Given the description of an element on the screen output the (x, y) to click on. 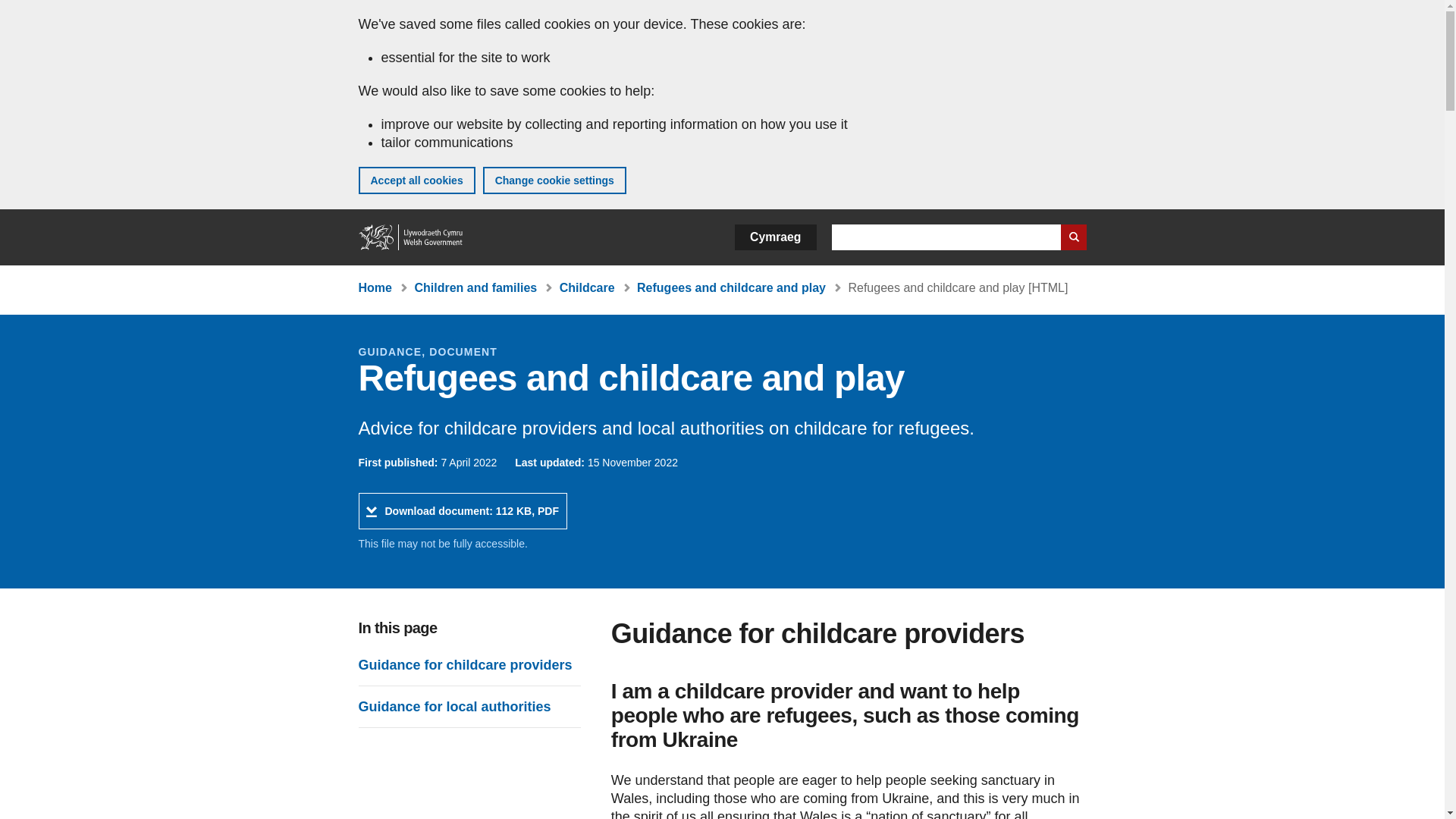
Guidance for childcare providers (465, 665)
Skip to main content (22, 11)
Search website (1072, 237)
Welsh Government (411, 237)
Home (374, 287)
Cymraeg (775, 237)
Home (411, 237)
Refugees and childcare and play (731, 287)
Search website (462, 511)
